Given the description of an element on the screen output the (x, y) to click on. 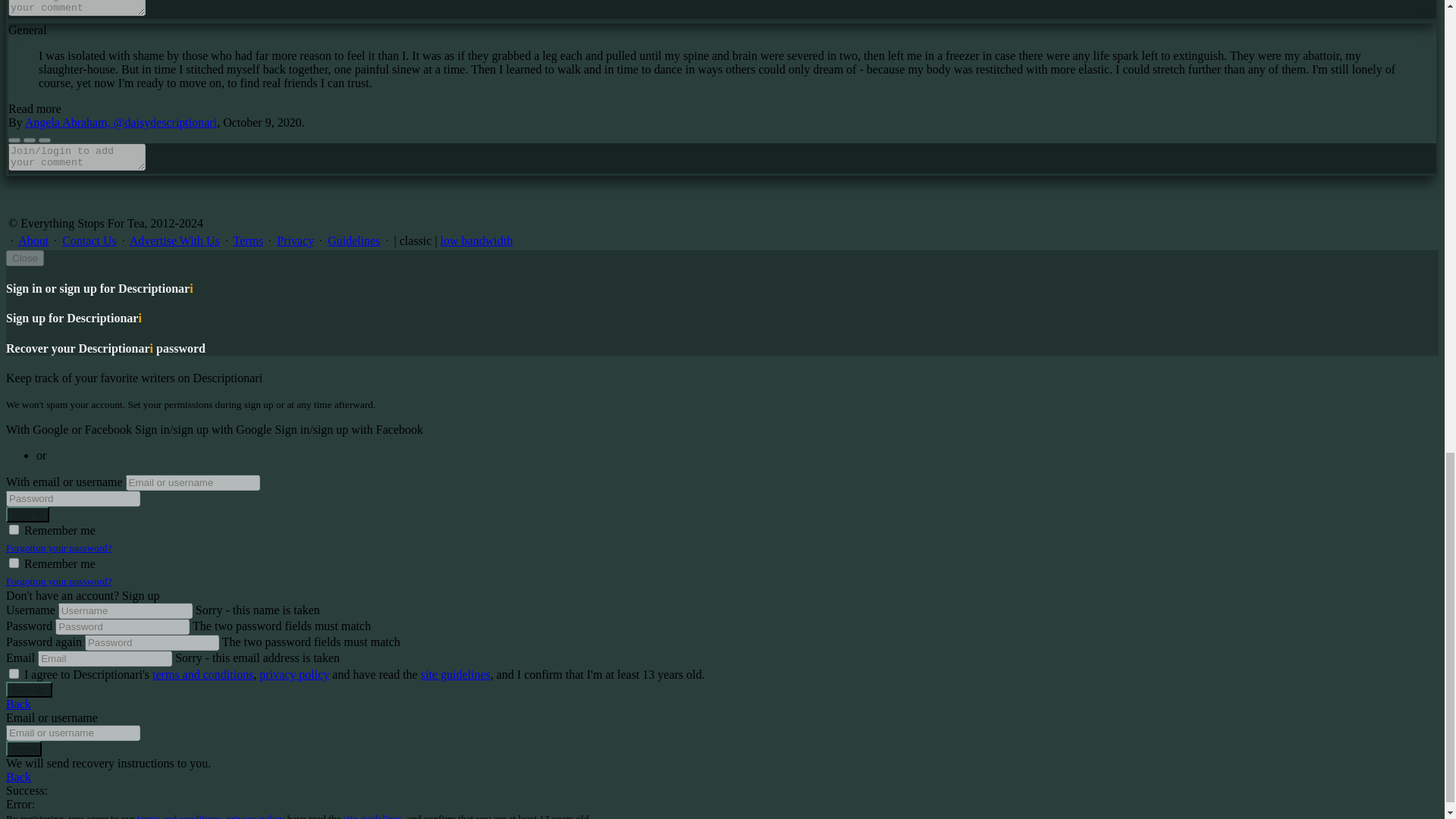
on (13, 673)
1 (13, 529)
1 (13, 562)
